Given the description of an element on the screen output the (x, y) to click on. 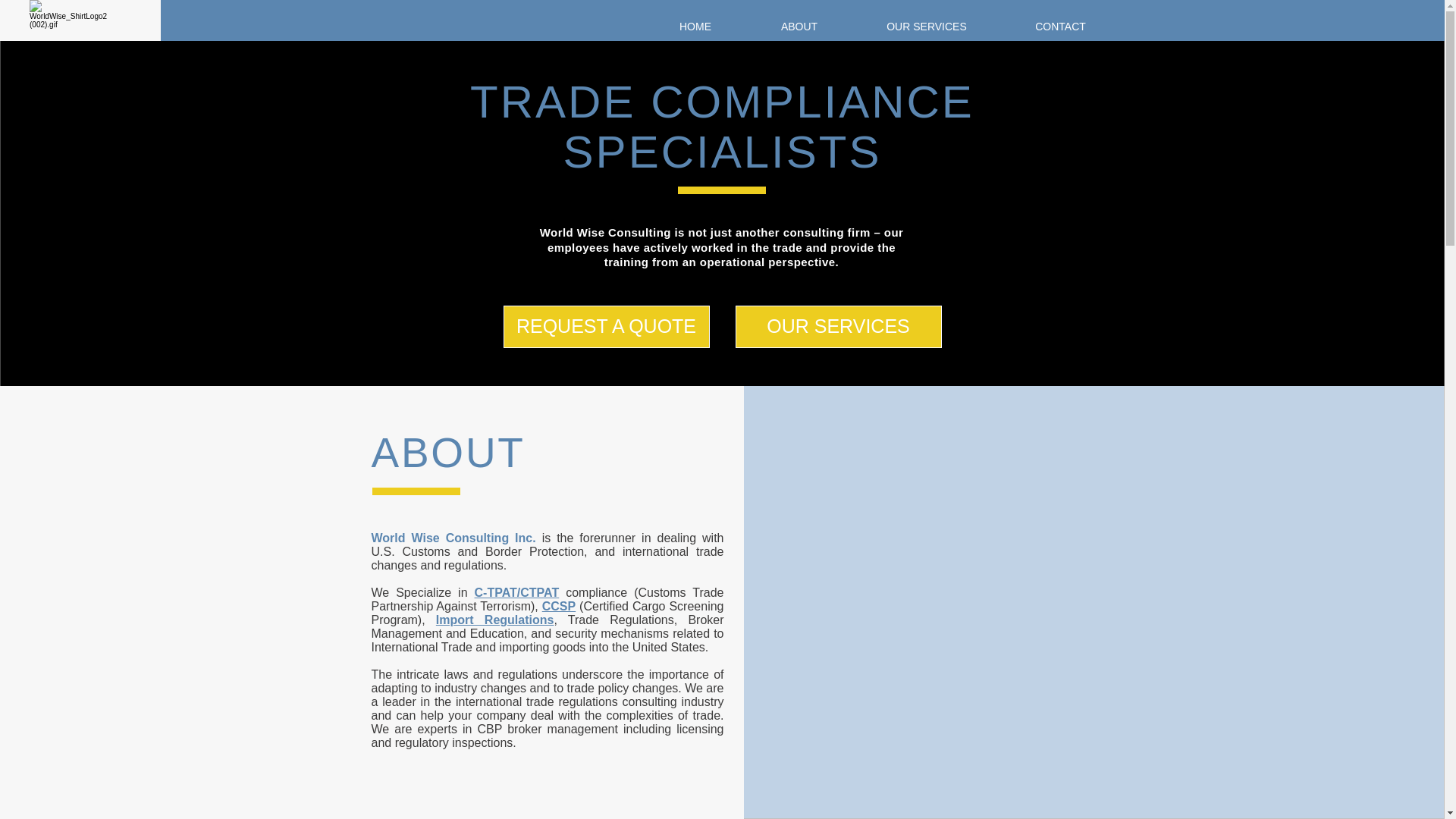
HOME (695, 26)
OUR SERVICES (838, 326)
ABOUT (799, 26)
Import Regulations (494, 619)
OUR SERVICES (925, 26)
CONTACT (1061, 26)
REQUEST A QUOTE (606, 326)
CCSP (558, 605)
